Given the description of an element on the screen output the (x, y) to click on. 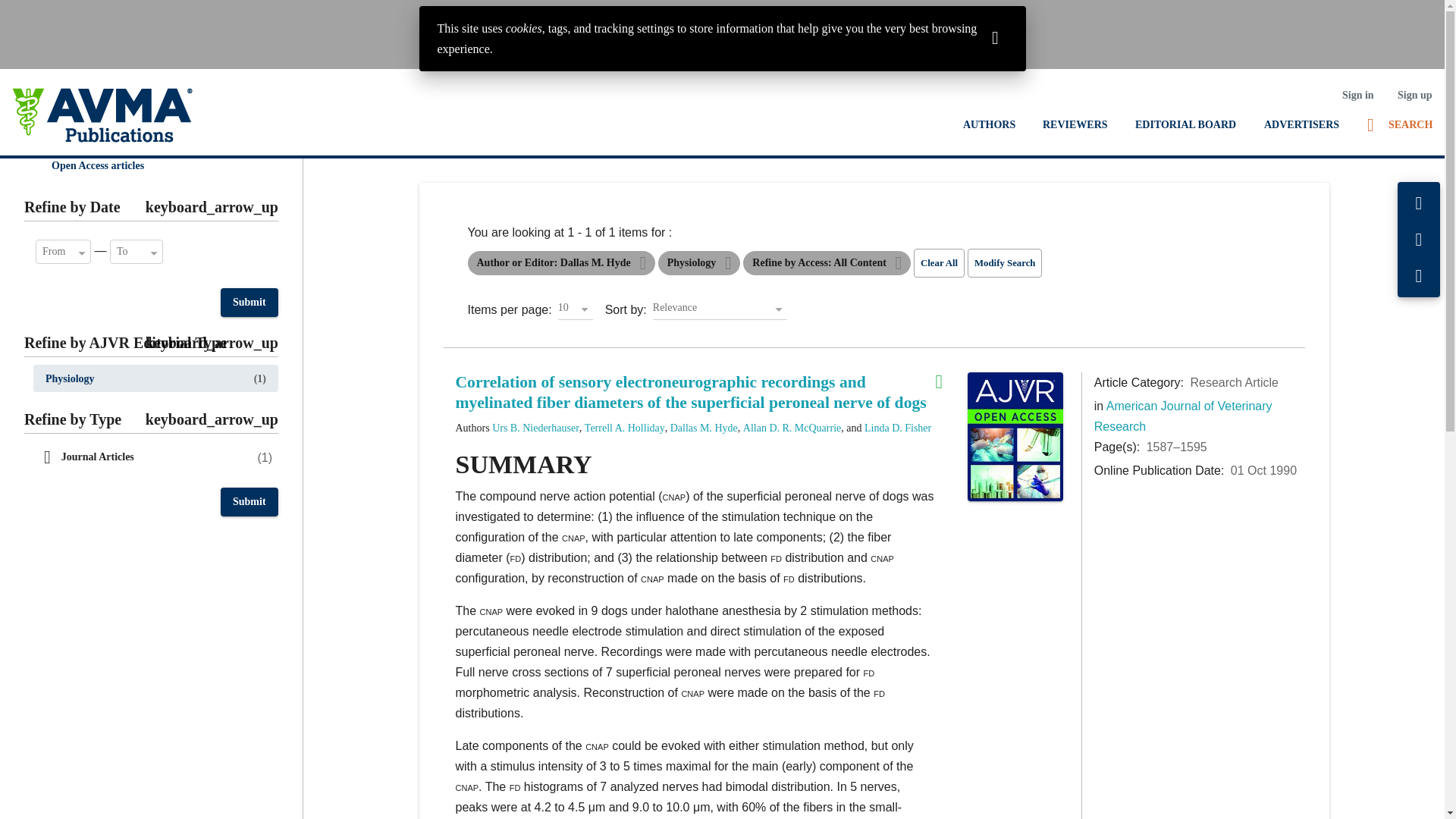
AUTHORS (988, 124)
Sign in (1358, 95)
Jump to Content (45, 11)
Dismiss this warning (994, 37)
